Given the description of an element on the screen output the (x, y) to click on. 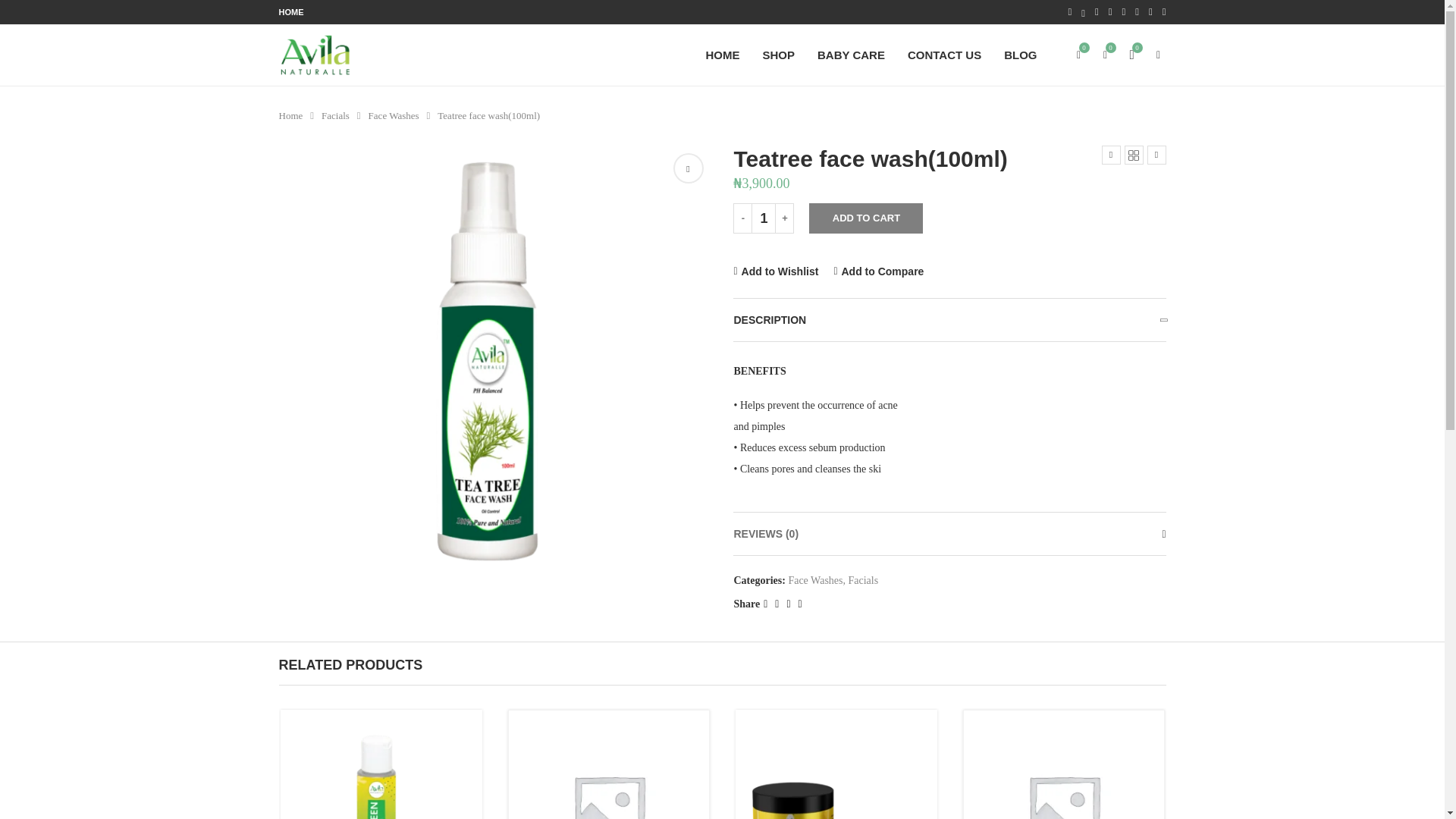
Add to Wishlist (775, 271)
Facials (335, 115)
Add to Compare (877, 271)
ADD TO CART (866, 218)
Face Washes (393, 115)
HOME (291, 12)
Add to Wishlist (775, 271)
BABY CARE (850, 55)
Home (290, 115)
